Given the description of an element on the screen output the (x, y) to click on. 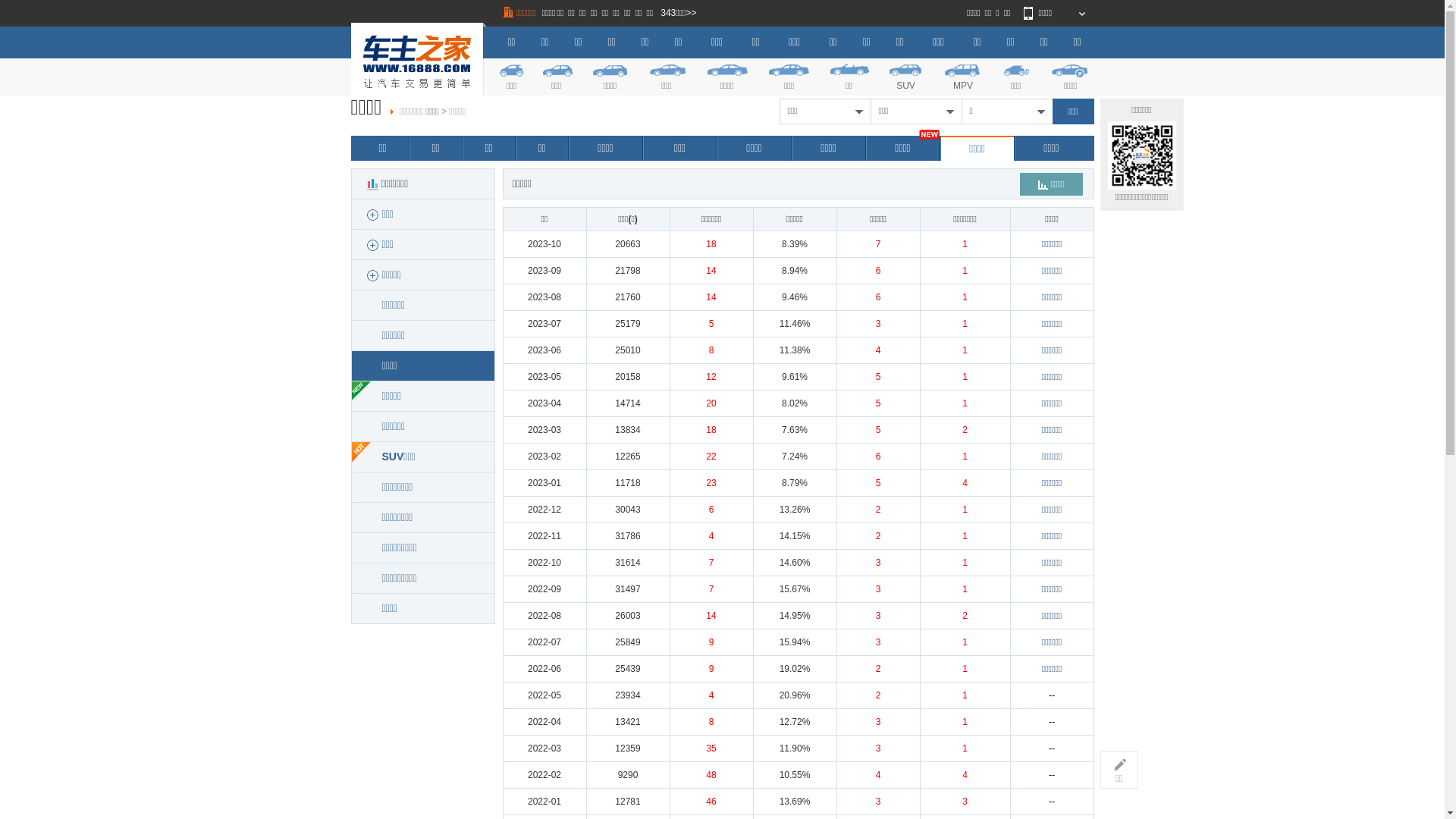
2 Element type: text (878, 535)
1 Element type: text (964, 296)
3 Element type: text (878, 588)
7 Element type: text (711, 588)
14 Element type: text (710, 615)
1 Element type: text (964, 376)
48 Element type: text (710, 774)
4 Element type: text (878, 350)
1 Element type: text (964, 509)
SUV Element type: text (906, 75)
3 Element type: text (878, 615)
12 Element type: text (710, 376)
1 Element type: text (964, 721)
4 Element type: text (711, 695)
22 Element type: text (710, 456)
7 Element type: text (878, 243)
46 Element type: text (710, 801)
4 Element type: text (964, 774)
20 Element type: text (710, 403)
4 Element type: text (711, 535)
6 Element type: text (878, 456)
1 Element type: text (964, 695)
23 Element type: text (710, 482)
1 Element type: text (964, 668)
3 Element type: text (878, 642)
2 Element type: text (878, 509)
2 Element type: text (964, 615)
4 Element type: text (964, 482)
1 Element type: text (964, 456)
14 Element type: text (710, 270)
1 Element type: text (964, 350)
1 Element type: text (964, 535)
1 Element type: text (964, 588)
6 Element type: text (711, 509)
3 Element type: text (878, 323)
3 Element type: text (964, 801)
5 Element type: text (878, 376)
1 Element type: text (964, 323)
4 Element type: text (878, 774)
1 Element type: text (964, 748)
35 Element type: text (710, 748)
2 Element type: text (964, 429)
6 Element type: text (878, 296)
9 Element type: text (711, 668)
14 Element type: text (710, 296)
5 Element type: text (878, 403)
18 Element type: text (710, 429)
3 Element type: text (878, 562)
3 Element type: text (878, 748)
5 Element type: text (711, 323)
1 Element type: text (964, 403)
6 Element type: text (878, 270)
MPV Element type: text (962, 75)
7 Element type: text (711, 562)
3 Element type: text (878, 721)
1 Element type: text (964, 562)
5 Element type: text (878, 429)
1 Element type: text (964, 642)
8 Element type: text (711, 721)
3 Element type: text (878, 801)
1 Element type: text (964, 270)
9 Element type: text (711, 642)
5 Element type: text (878, 482)
8 Element type: text (711, 350)
18 Element type: text (710, 243)
1 Element type: text (964, 243)
2 Element type: text (878, 668)
2 Element type: text (878, 695)
